Given the description of an element on the screen output the (x, y) to click on. 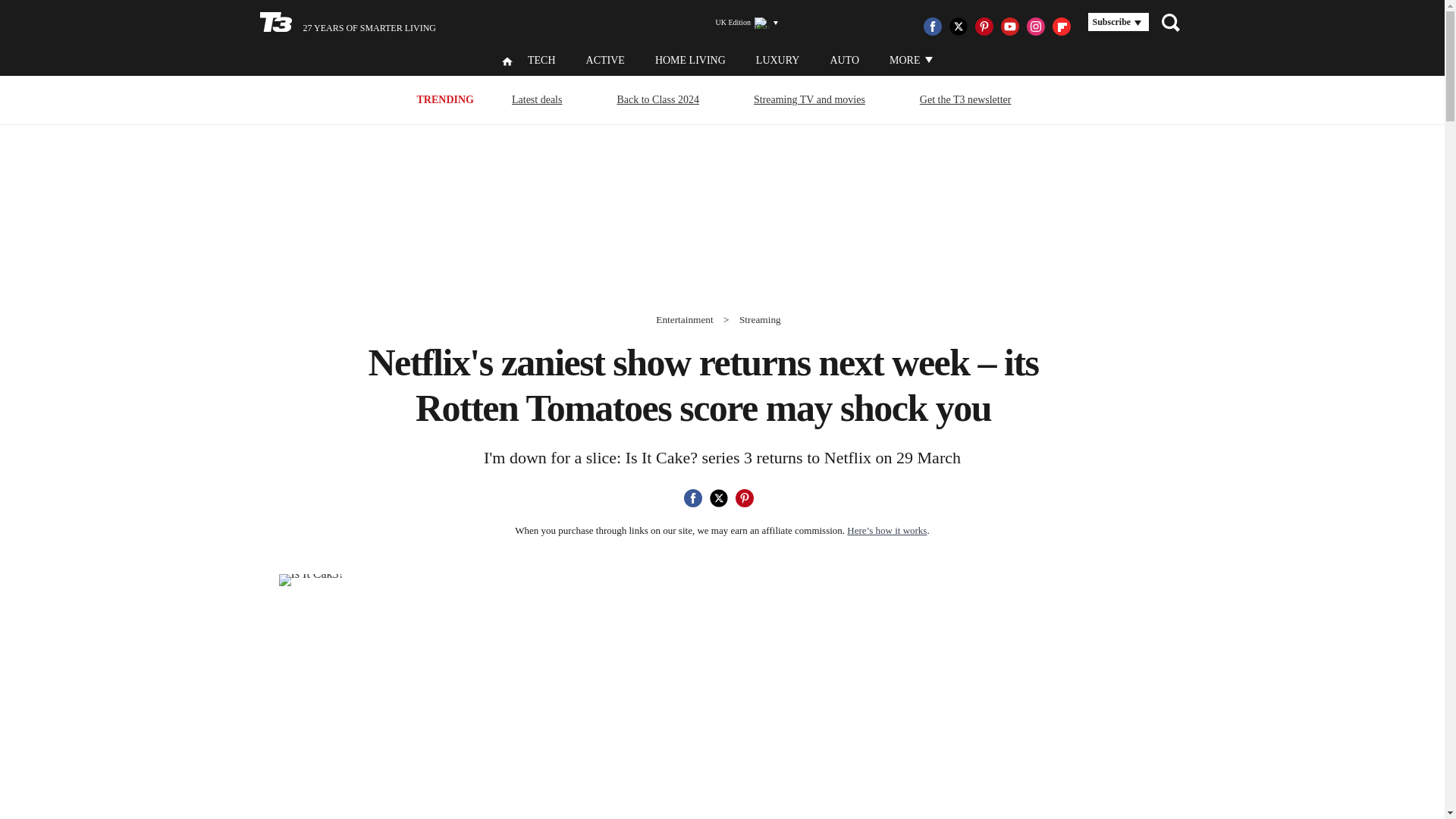
LUXURY (777, 60)
AUTO (844, 60)
Streaming TV and movies (809, 99)
TECH (541, 60)
HOME LIVING (690, 60)
Latest deals (536, 99)
27 YEARS OF SMARTER LIVING (347, 23)
UK Edition (740, 22)
ACTIVE (605, 60)
Back to Class 2024 (657, 99)
